Given the description of an element on the screen output the (x, y) to click on. 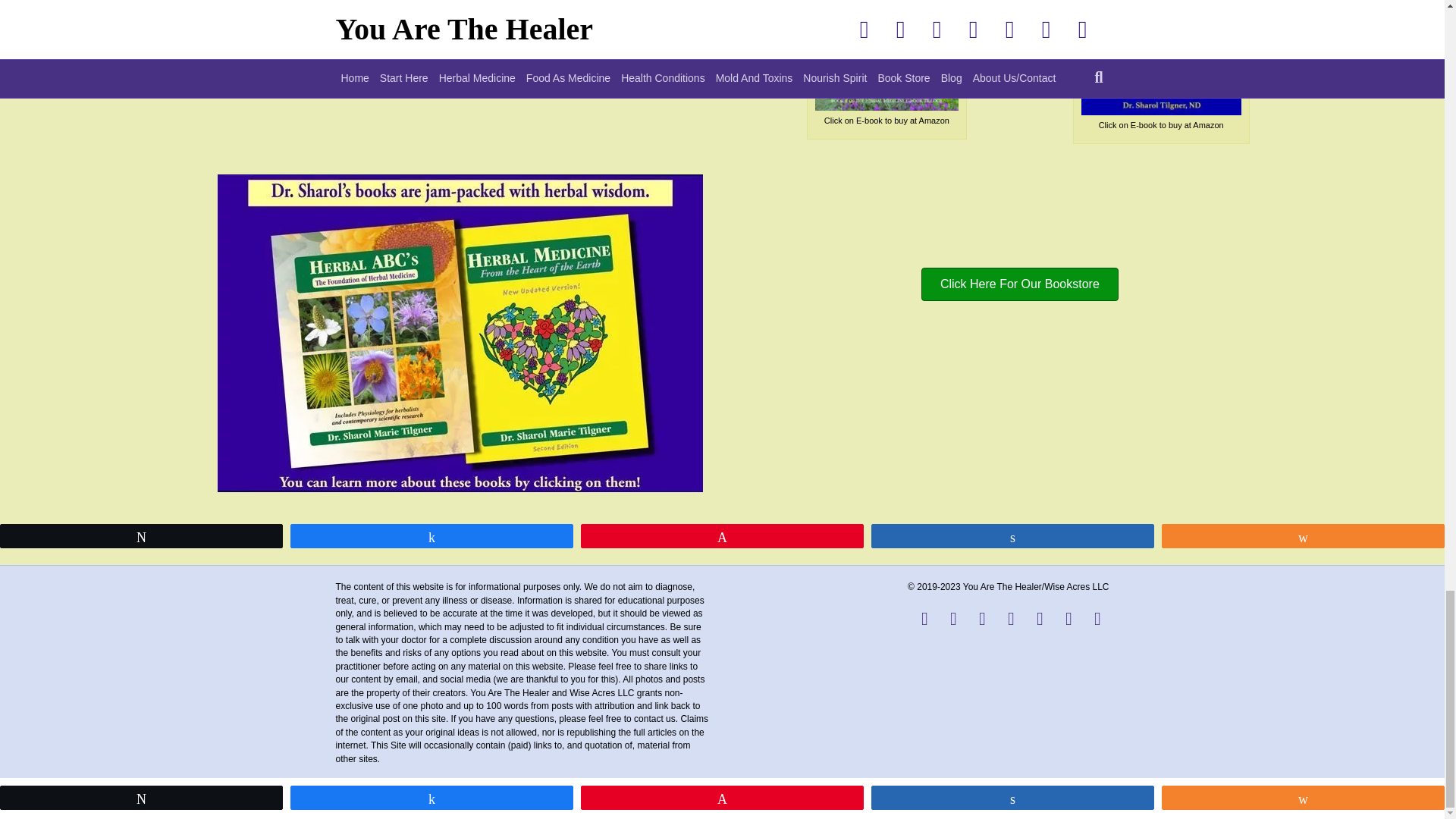
PayPal - The safer, easier way to pay online! (85, 12)
